Given the description of an element on the screen output the (x, y) to click on. 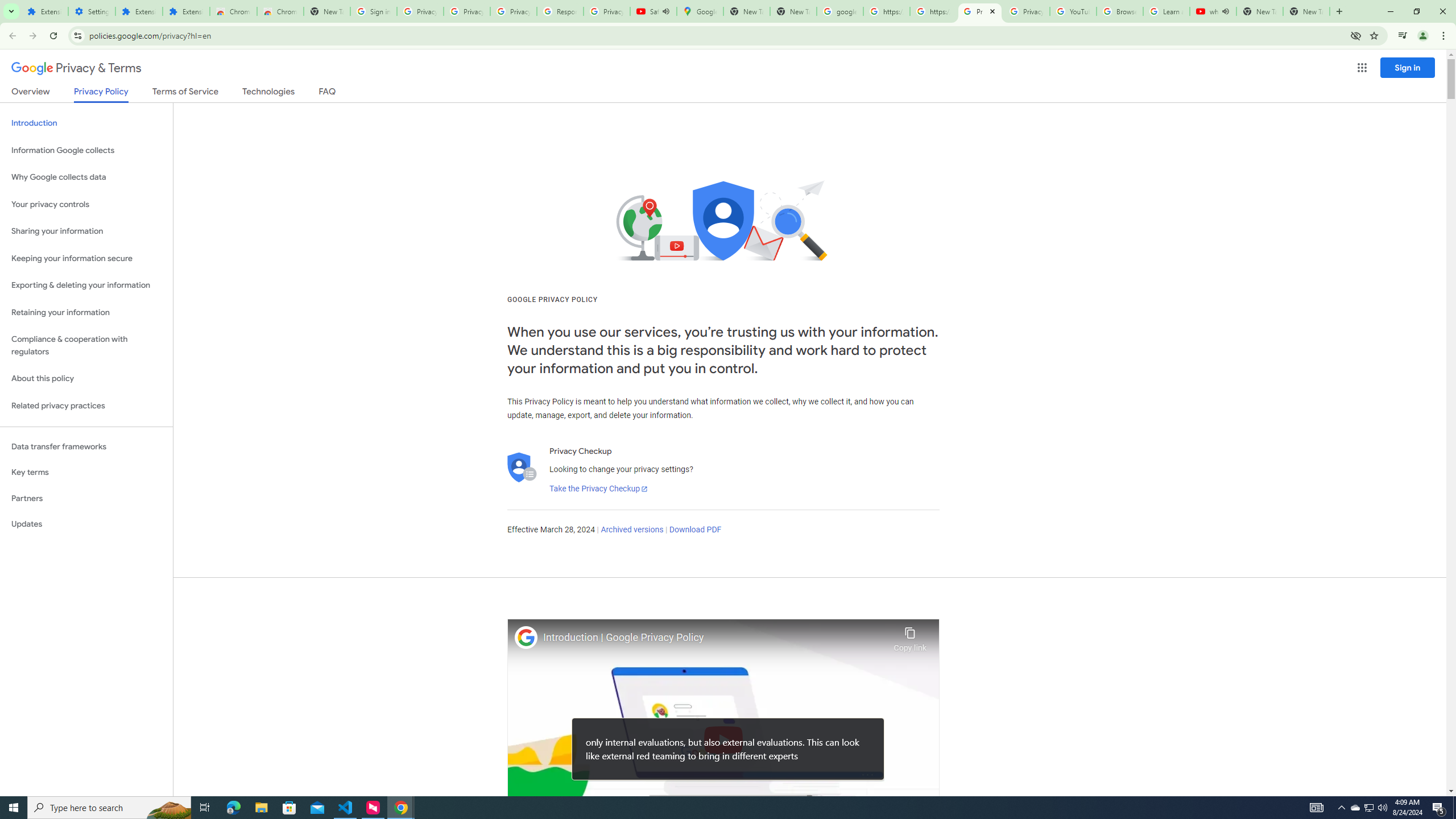
Browse Chrome as a guest - Computer - Google Chrome Help (1120, 11)
Extensions (44, 11)
Extensions (138, 11)
Sharing your information (86, 230)
Compliance & cooperation with regulators (86, 345)
Archived versions (631, 529)
